Given the description of an element on the screen output the (x, y) to click on. 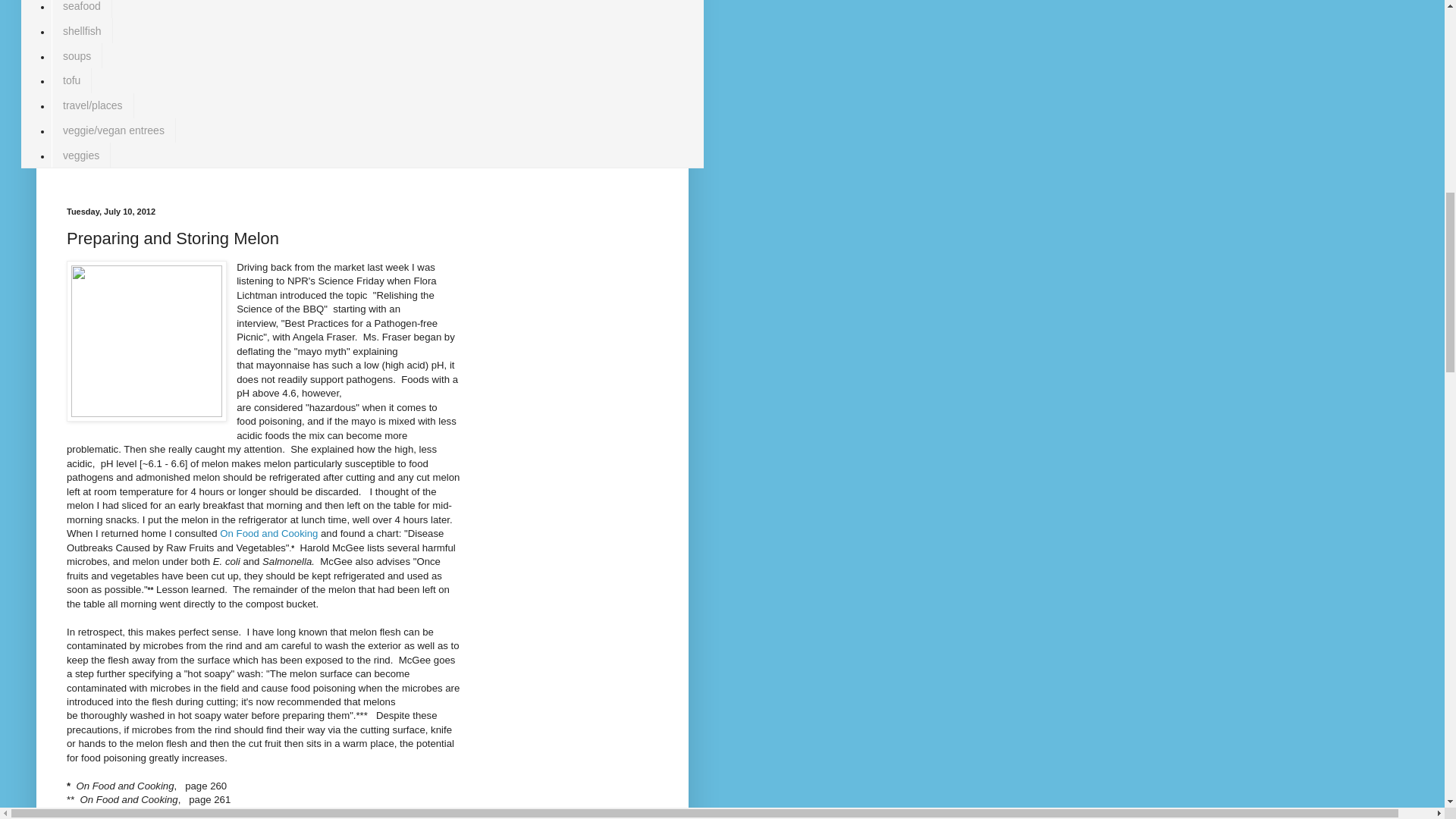
tofu (70, 80)
shellfish (81, 30)
veggies (80, 154)
On Food and Cooking (268, 532)
soups (75, 55)
seafood (81, 9)
